Given the description of an element on the screen output the (x, y) to click on. 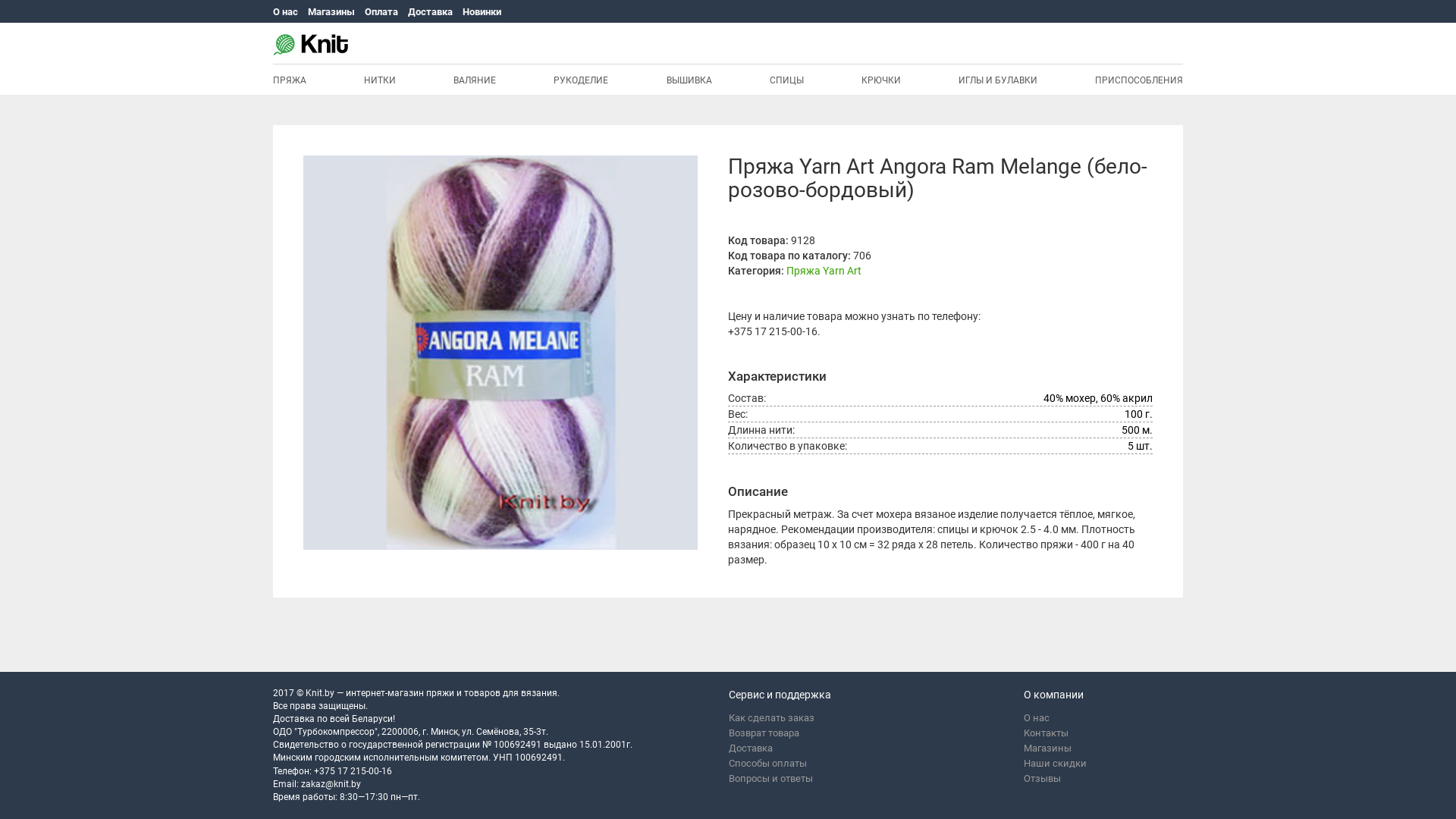
+375 17 215-00-16 Element type: text (772, 331)
